Given the description of an element on the screen output the (x, y) to click on. 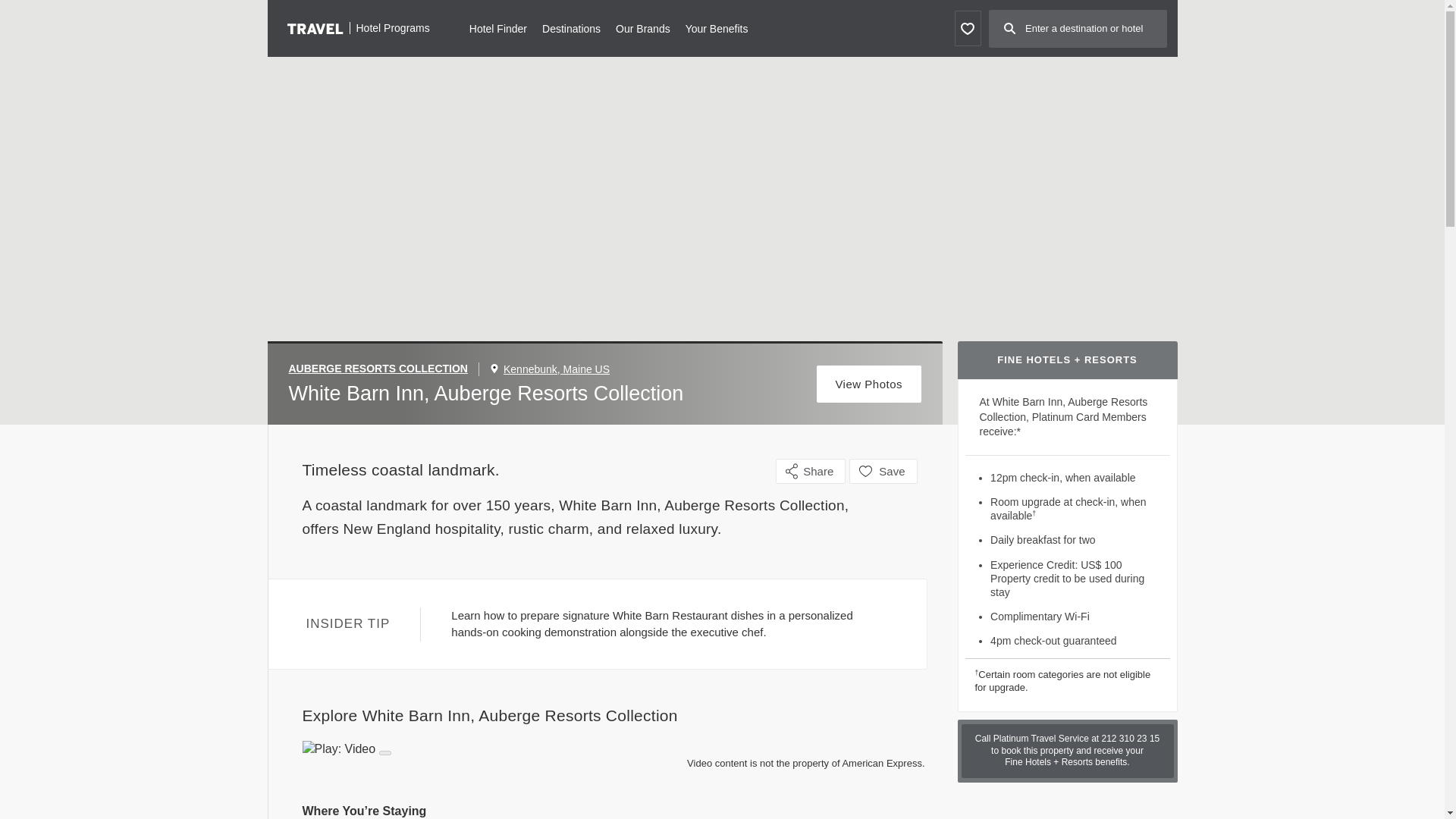
Hotel Programs (357, 27)
Share (810, 471)
Save (882, 471)
AUBERGE RESORTS COLLECTION (383, 368)
View Photos (868, 383)
Our Brands (642, 27)
Your Benefits (716, 27)
Kennebunk, Maine US (556, 369)
Destinations (570, 27)
Hotel Finder (497, 27)
Play: Video (612, 749)
